Given the description of an element on the screen output the (x, y) to click on. 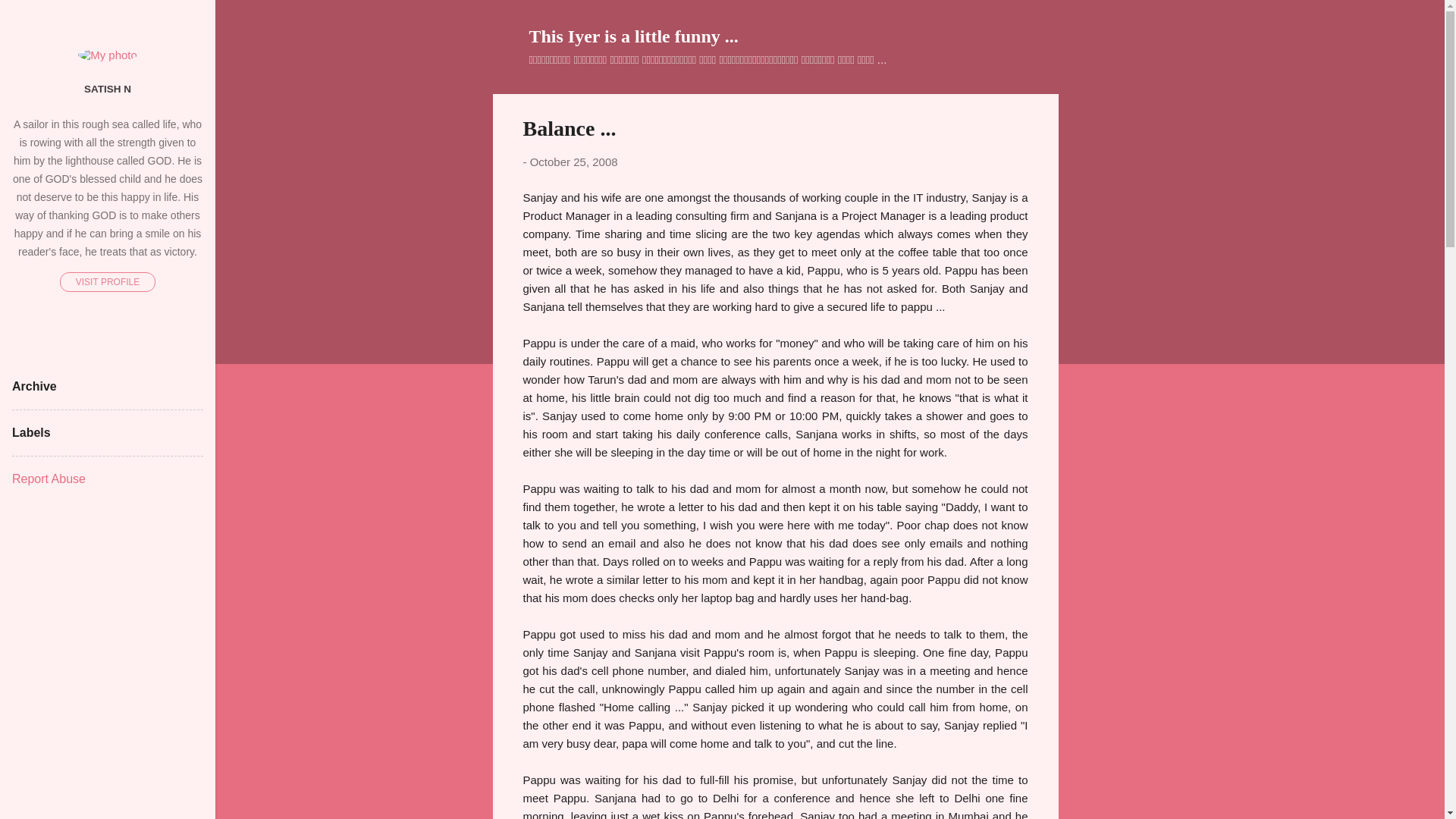
October 25, 2008 (573, 161)
SATISH N (107, 88)
This Iyer is a little funny ... (633, 35)
permanent link (573, 161)
Search (29, 18)
VISIT PROFILE (107, 281)
